Given the description of an element on the screen output the (x, y) to click on. 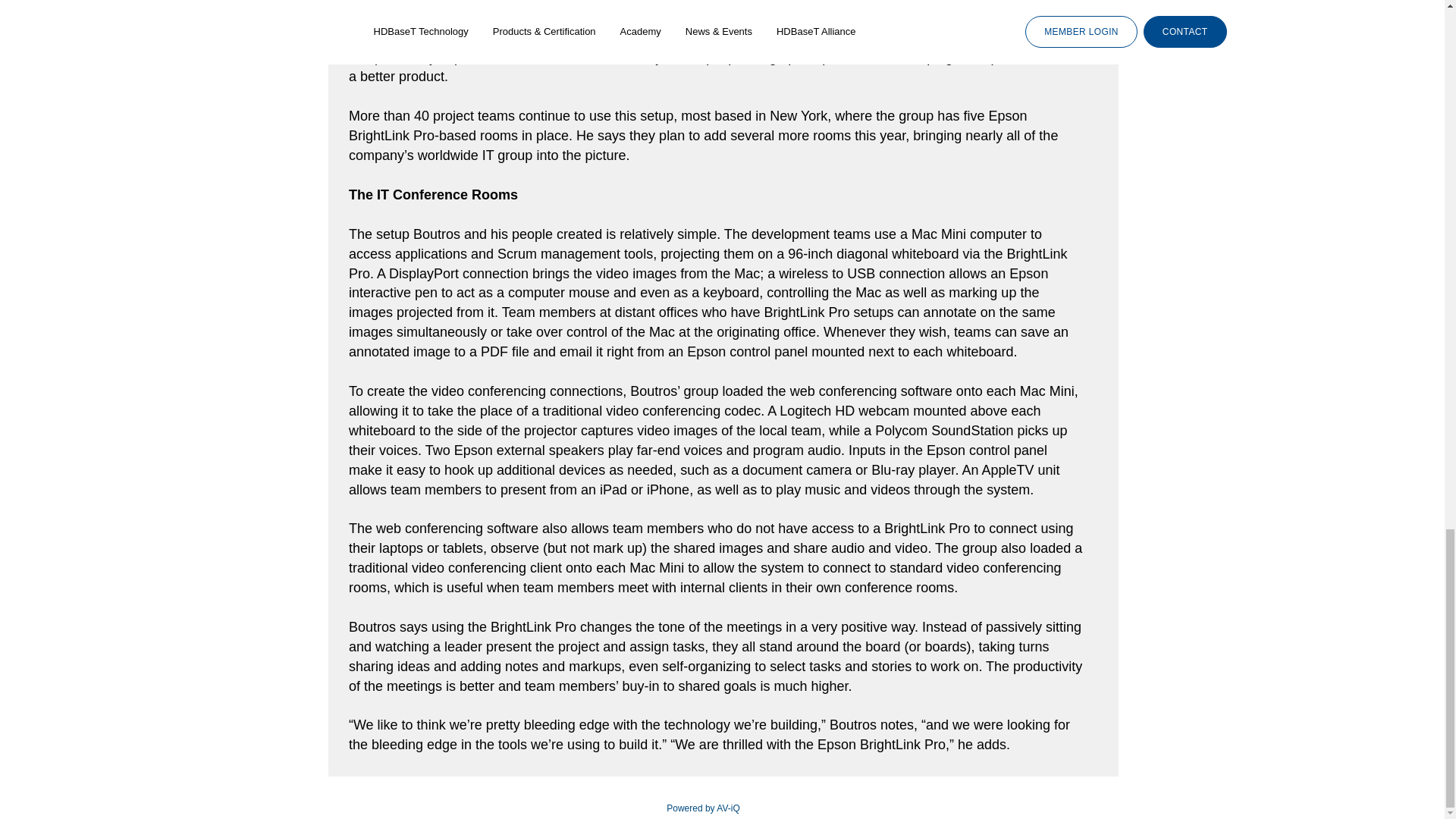
Powered by AV-iQ (702, 808)
